Given the description of an element on the screen output the (x, y) to click on. 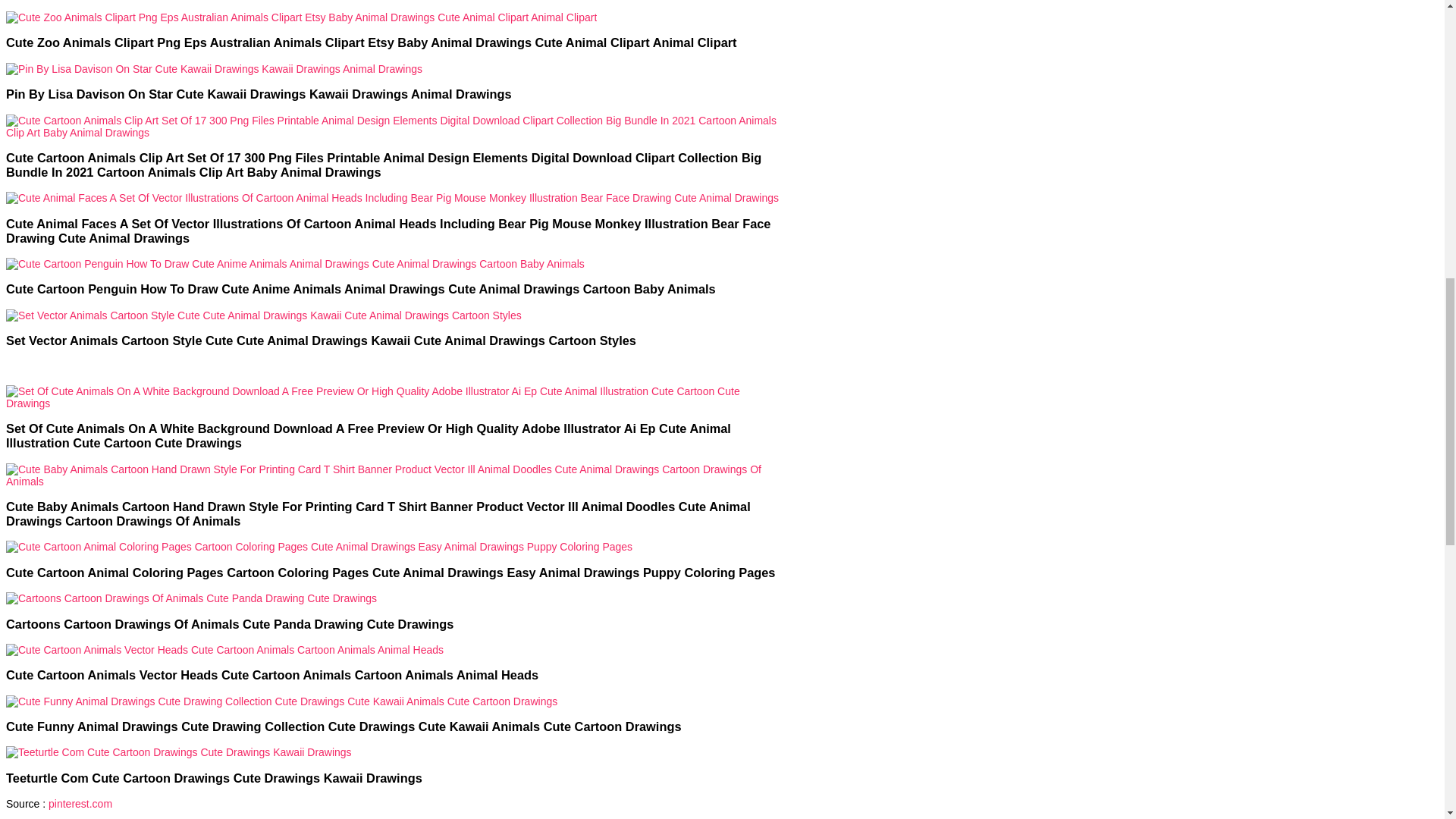
pinterest.com (80, 803)
